Given the description of an element on the screen output the (x, y) to click on. 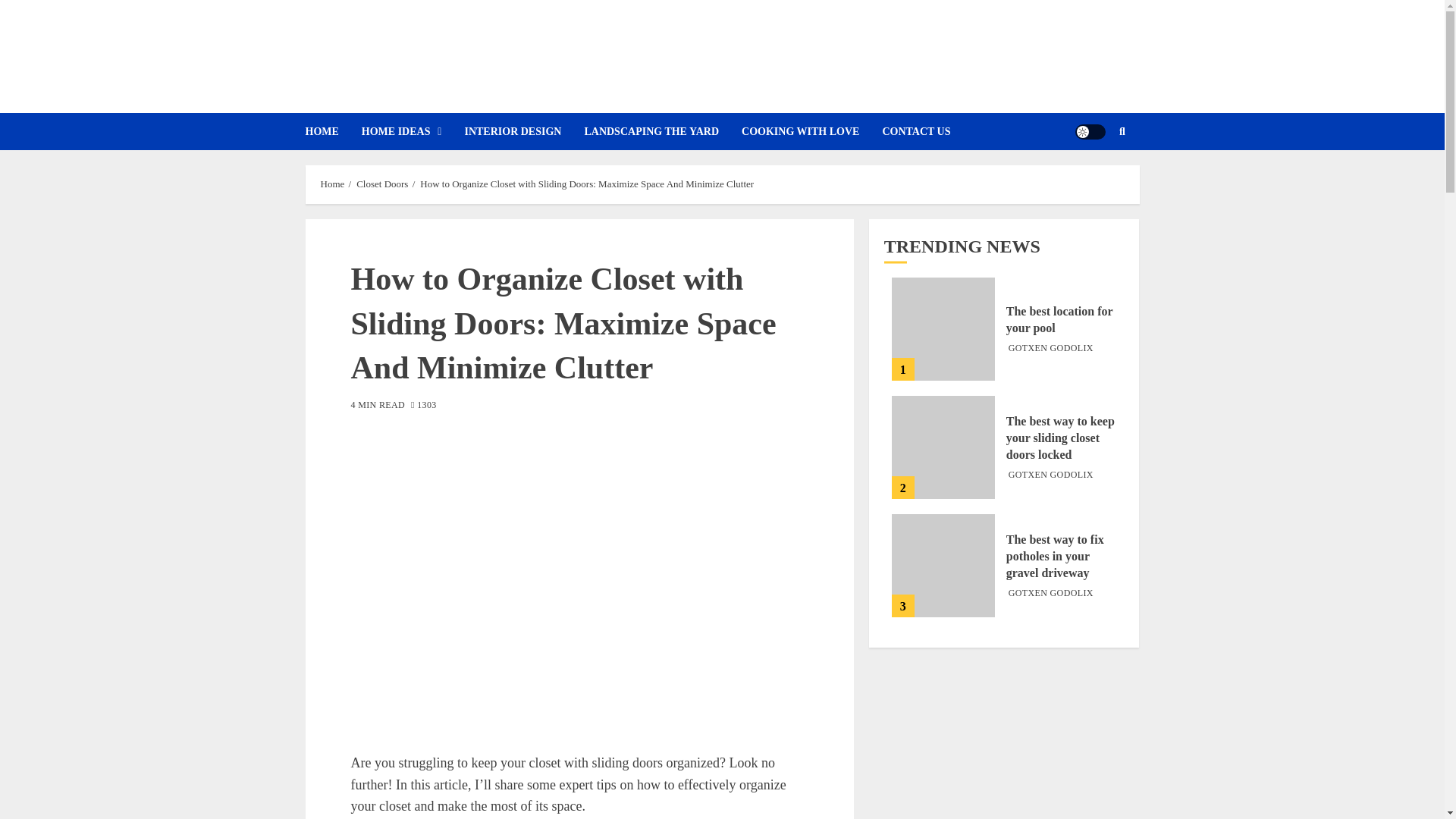
CONTACT US (927, 131)
LANDSCAPING THE YARD (662, 131)
Home (331, 184)
1303 (423, 405)
Search (1092, 176)
HOME IDEAS (412, 131)
Closet Doors (381, 184)
COOKING WITH LOVE (811, 131)
HOME (332, 131)
